Given the description of an element on the screen output the (x, y) to click on. 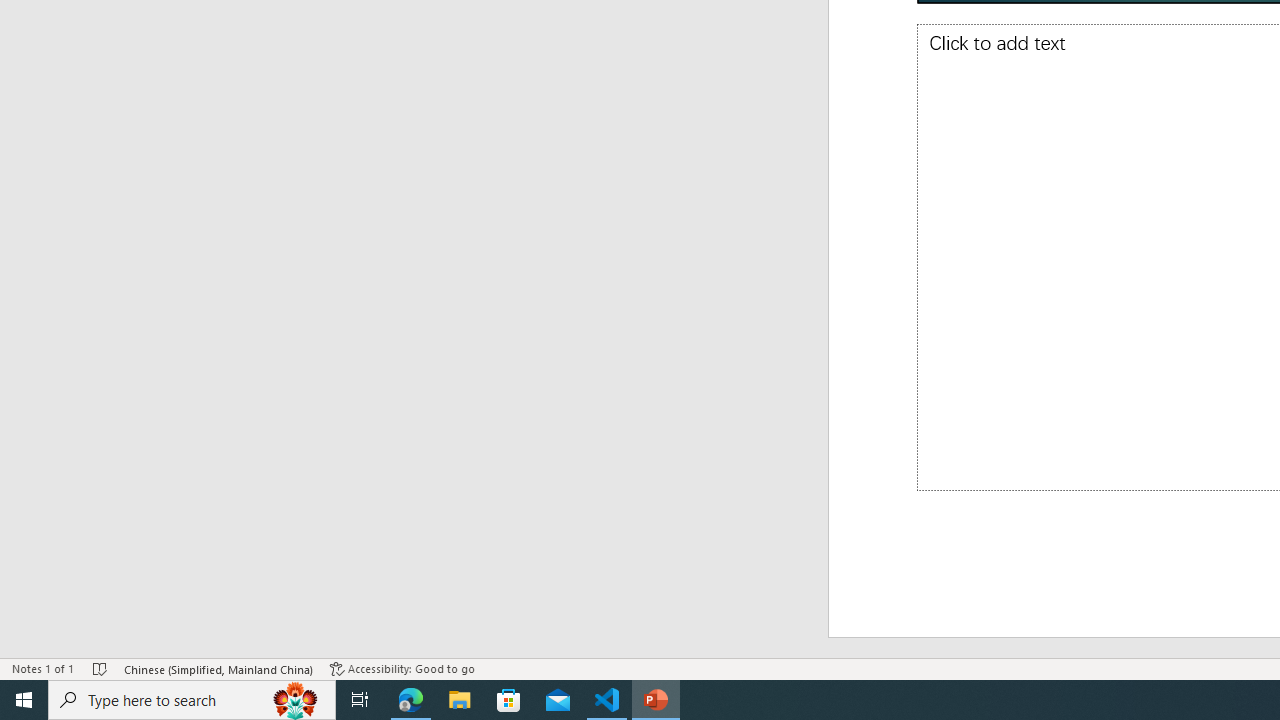
Accessibility Checker Accessibility: Good to go (402, 668)
Spell Check No Errors (100, 668)
